Given the description of an element on the screen output the (x, y) to click on. 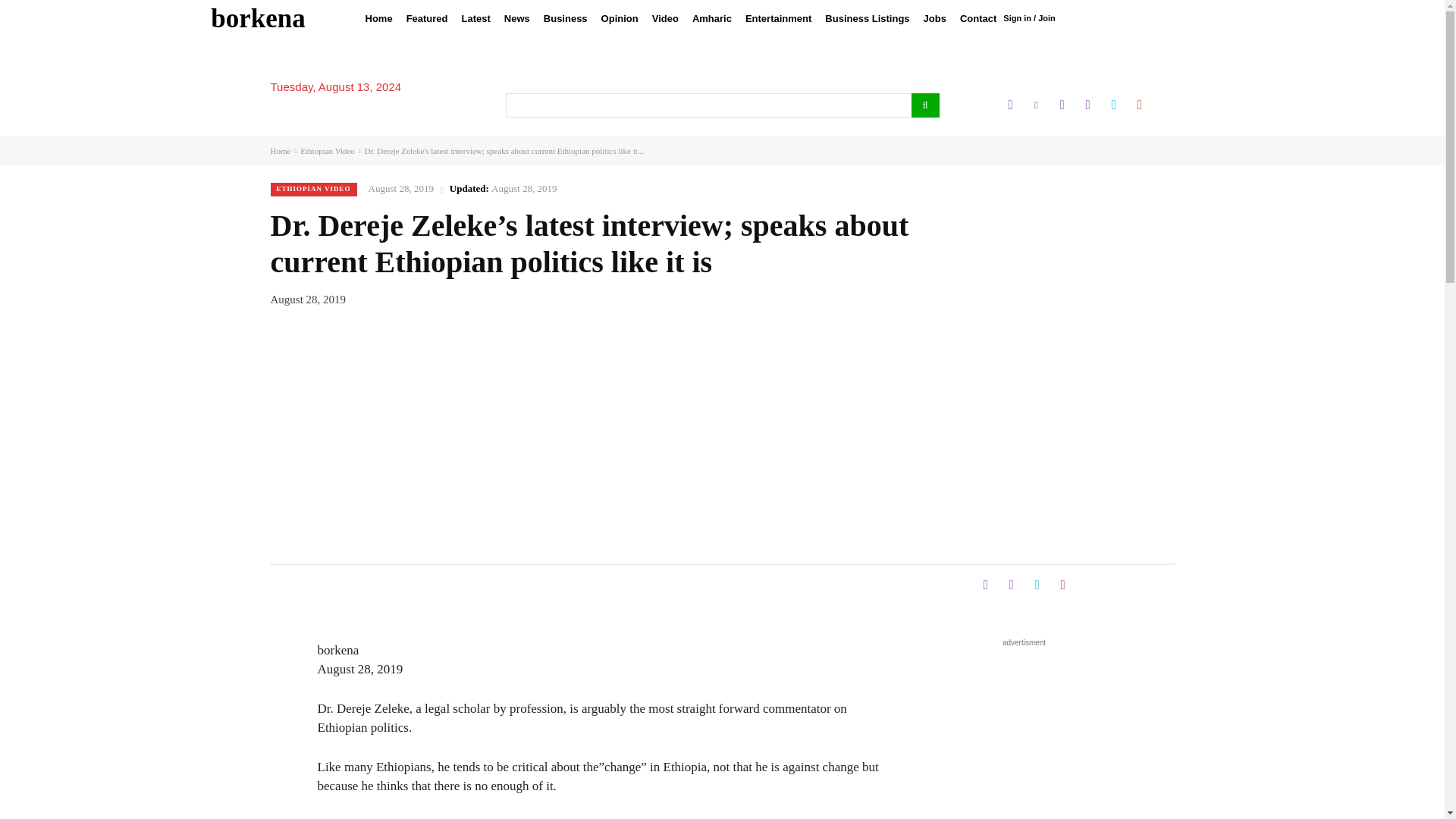
Contact (978, 18)
Business (565, 18)
Video (665, 18)
Ethiopian News and Opinion  (257, 18)
Amharic (711, 18)
Featured (426, 18)
Entertainment (778, 18)
Opinion (619, 18)
Business Listings (866, 18)
Latest (475, 18)
